Given the description of an element on the screen output the (x, y) to click on. 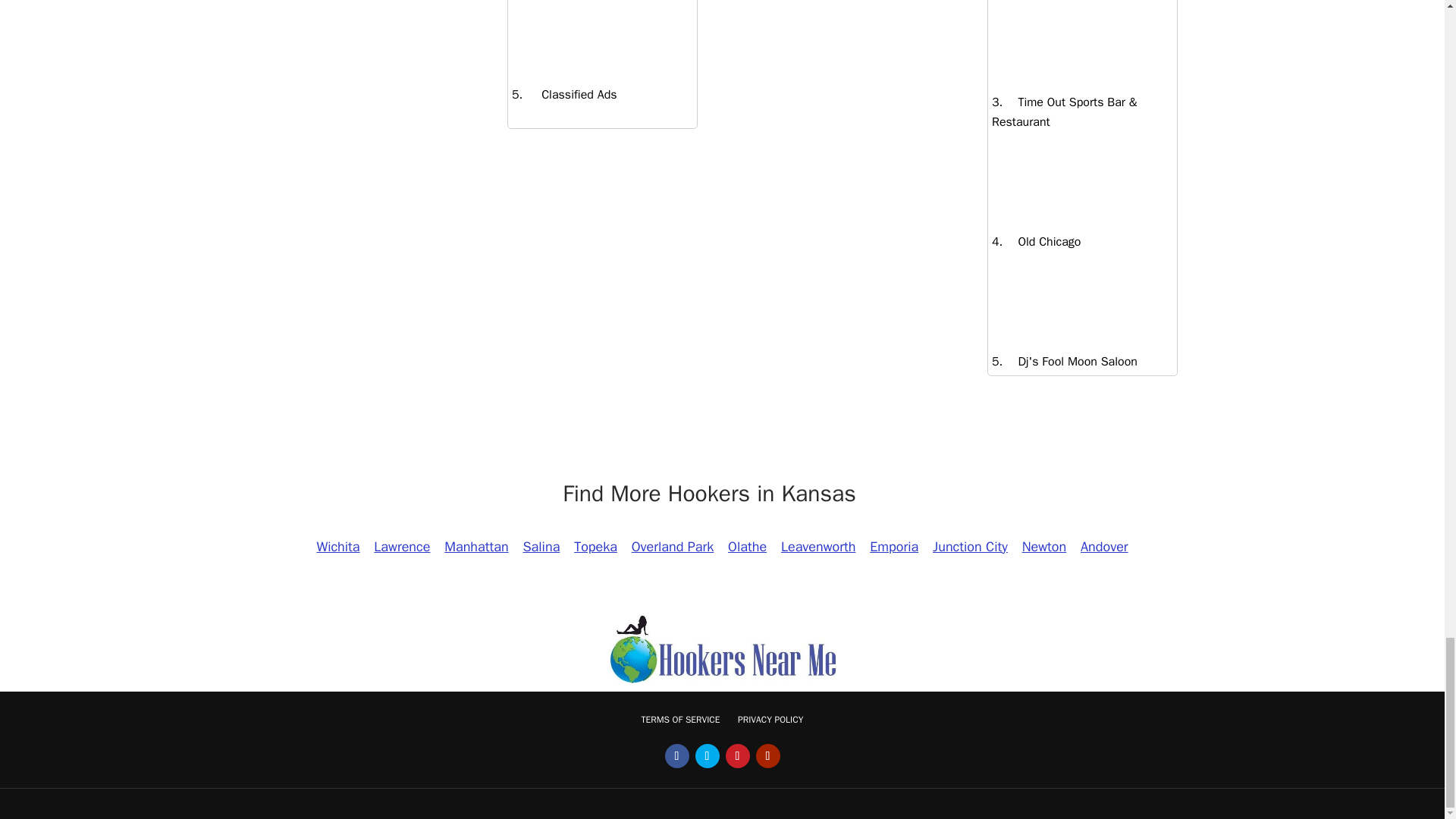
Follow on Youtube (766, 755)
Classified Ads (568, 94)
Follow on Pinterest (737, 755)
Dj's Fool Moon Saloon (1070, 360)
Olathe (746, 546)
Lawrence (401, 546)
Follow on Facebook (675, 755)
Topeka (596, 546)
Old Chicago (1041, 240)
Wichita (338, 546)
Overland Park (672, 546)
Follow on Twitter (706, 755)
Salina (540, 546)
Leavenworth (818, 546)
Manhattan (476, 546)
